Given the description of an element on the screen output the (x, y) to click on. 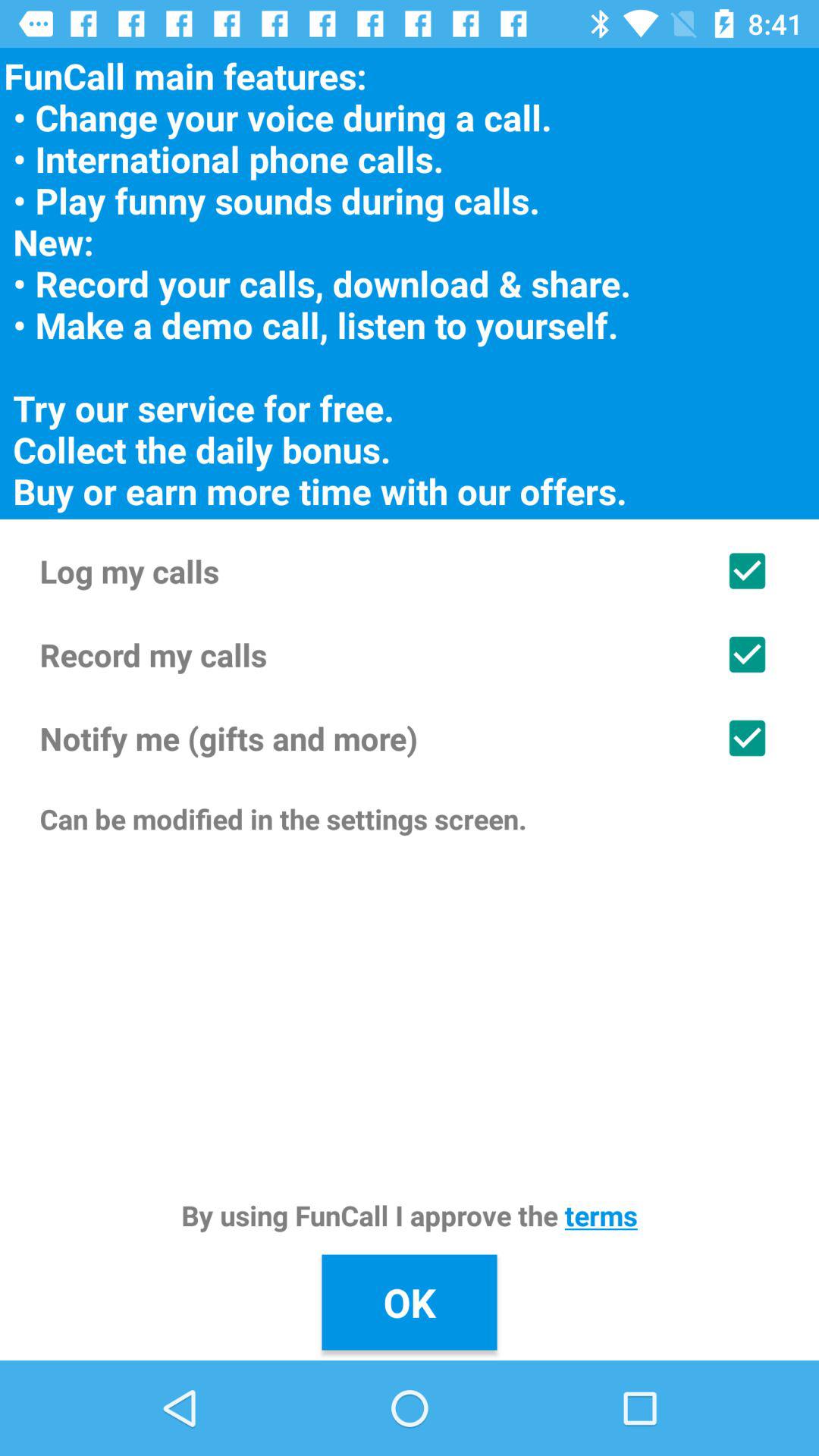
choose checkbox below record my calls (409, 738)
